Given the description of an element on the screen output the (x, y) to click on. 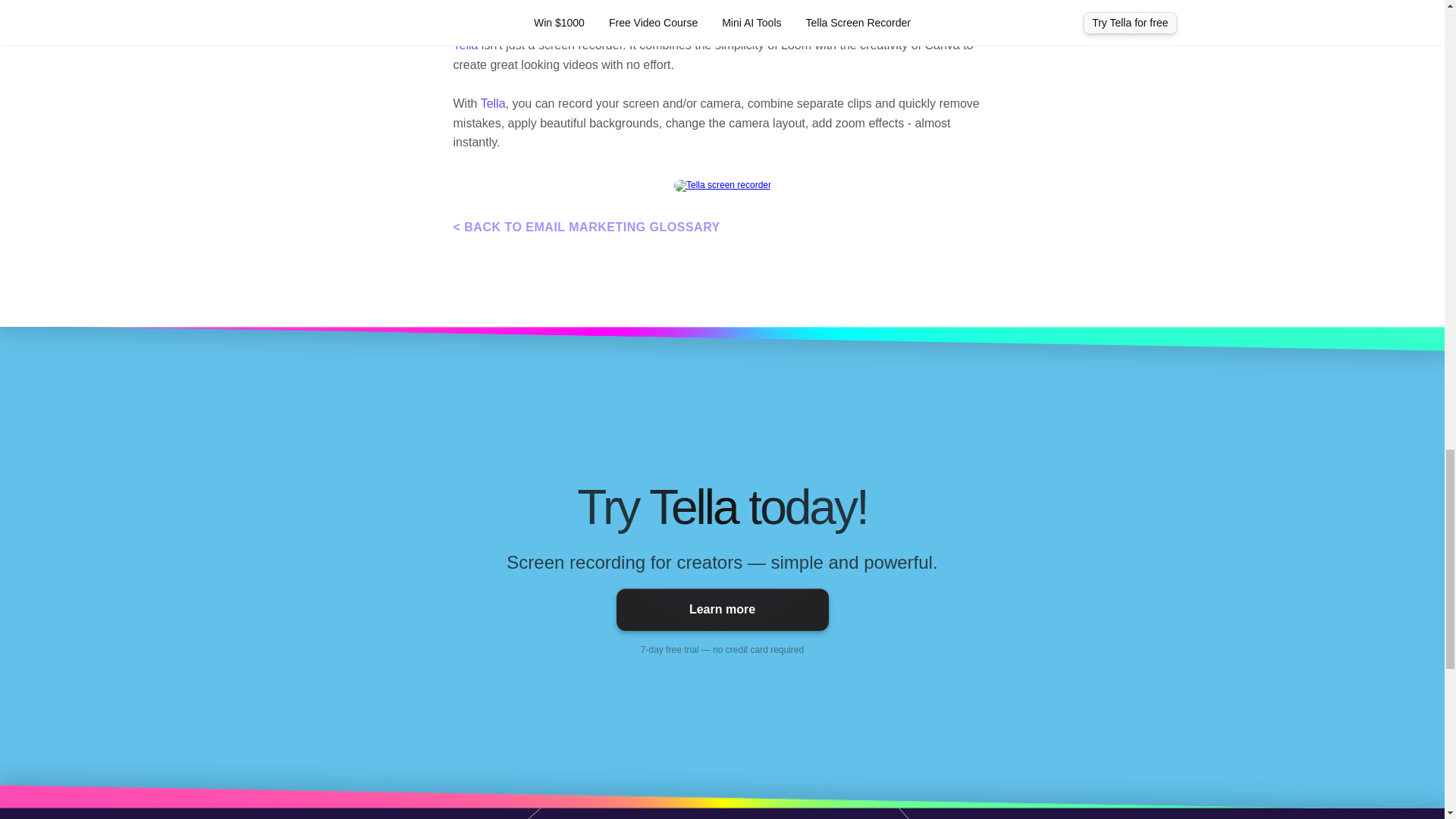
Learn more (721, 609)
Tella (465, 44)
Tella screen recorder (721, 185)
Tella (492, 103)
